Given the description of an element on the screen output the (x, y) to click on. 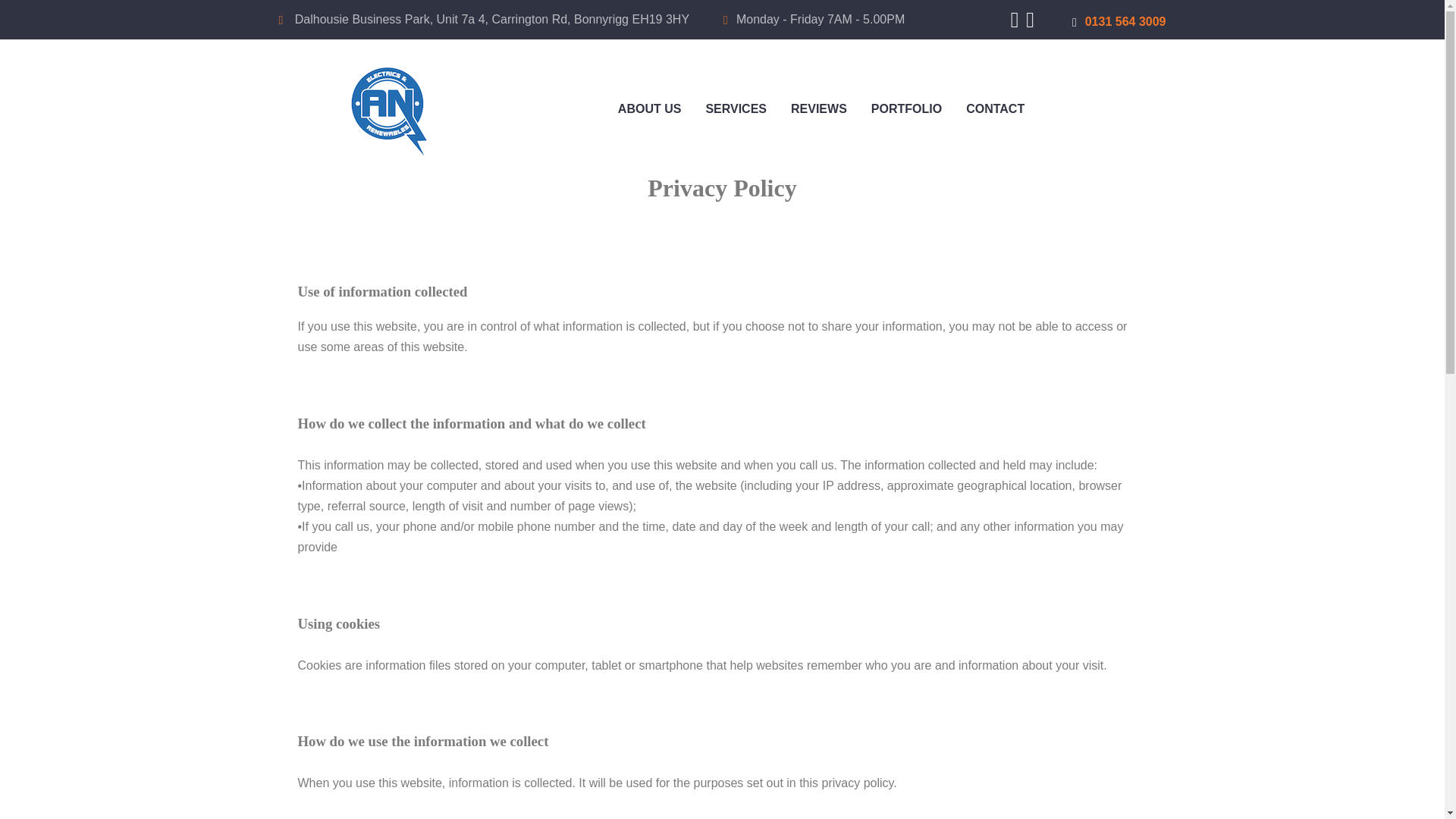
CONTACT (994, 108)
REVIEWS (818, 108)
0131 564 3009 (1118, 21)
PORTFOLIO (906, 108)
ABOUT US (649, 108)
SERVICES (735, 108)
